Given the description of an element on the screen output the (x, y) to click on. 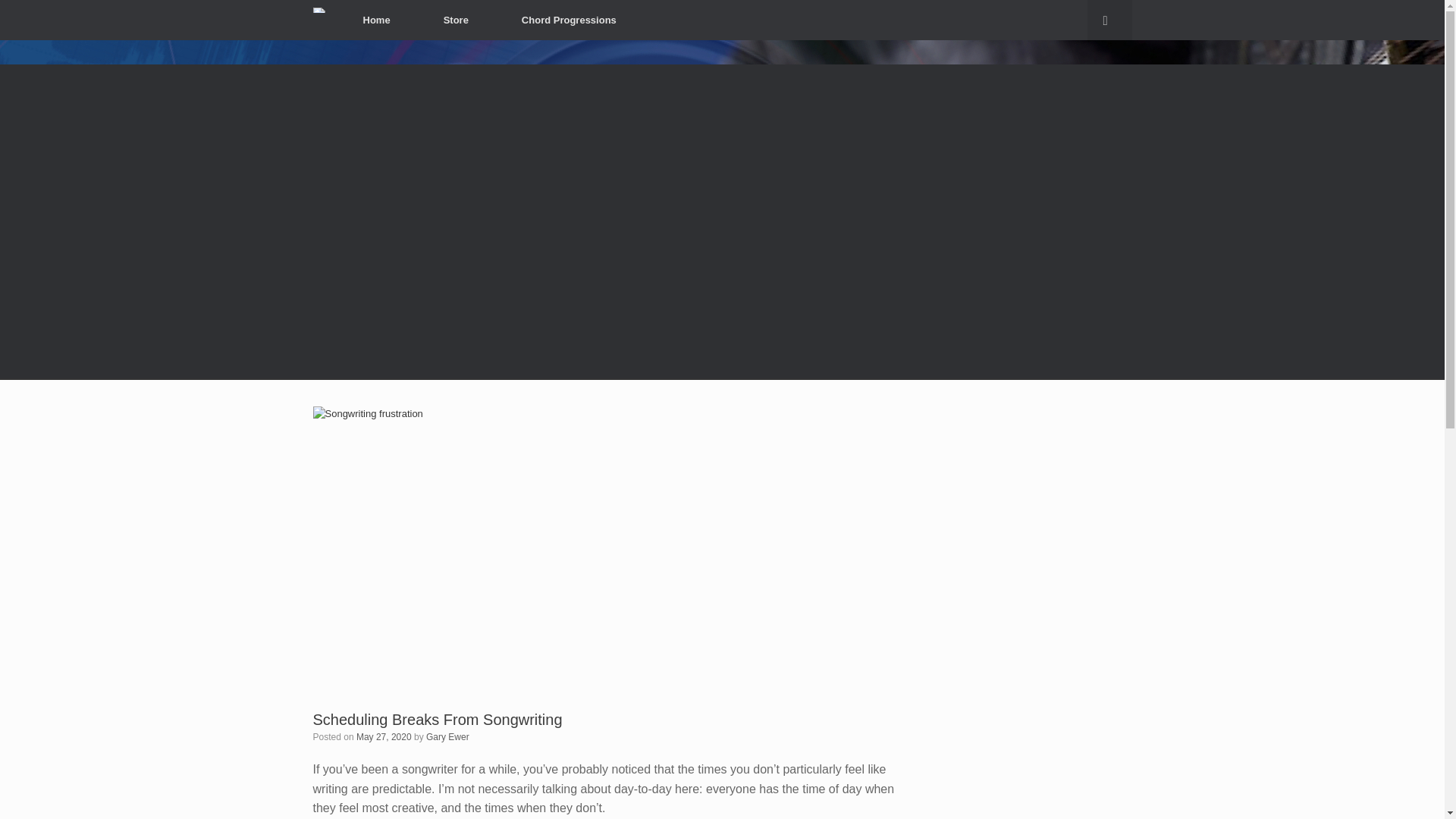
Gary Ewer (447, 736)
Store (455, 20)
Chord Progressions (569, 20)
May 27, 2020 (384, 736)
View all posts by Gary Ewer (447, 736)
10:24 am (384, 736)
Home (376, 20)
